Given the description of an element on the screen output the (x, y) to click on. 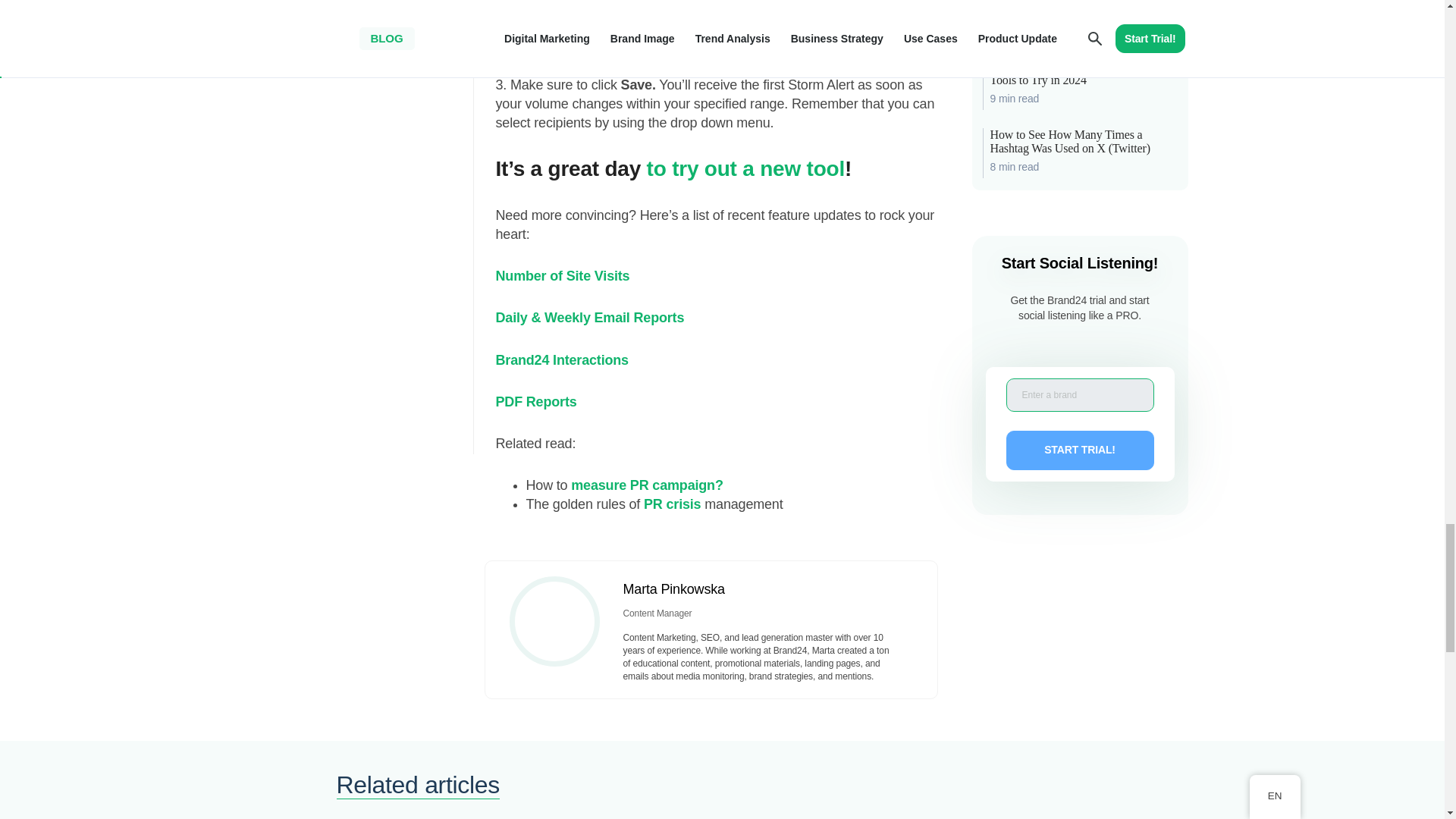
Brand24 Interactions (562, 359)
PR crisis (670, 503)
to try out a new tool (745, 168)
Marta Pinkowska (674, 588)
measure PR campaign? (646, 485)
Number of Site Visits (563, 275)
PDF Reports (536, 401)
